Given the description of an element on the screen output the (x, y) to click on. 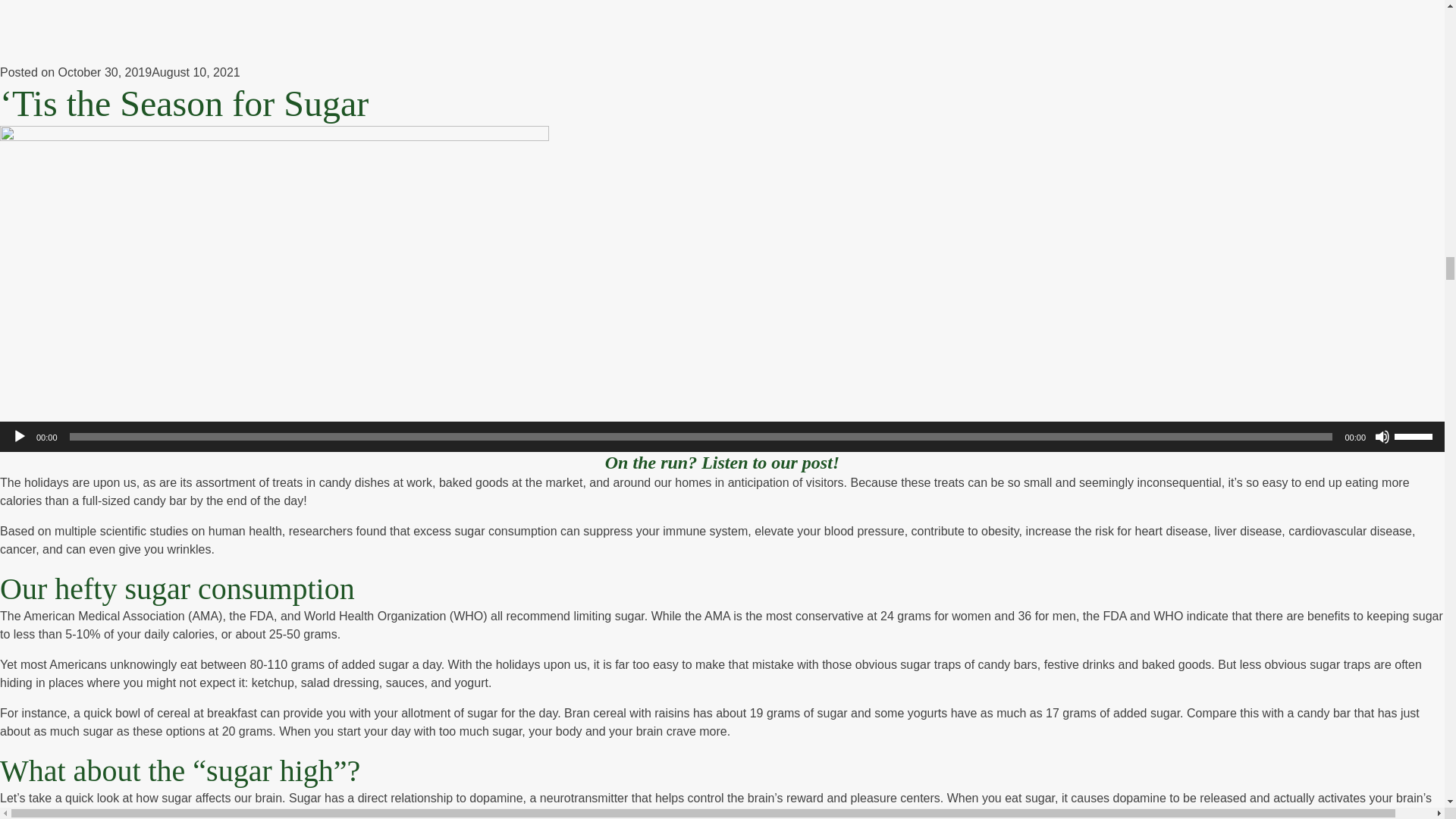
Mute (1382, 436)
Play (19, 436)
